Given the description of an element on the screen output the (x, y) to click on. 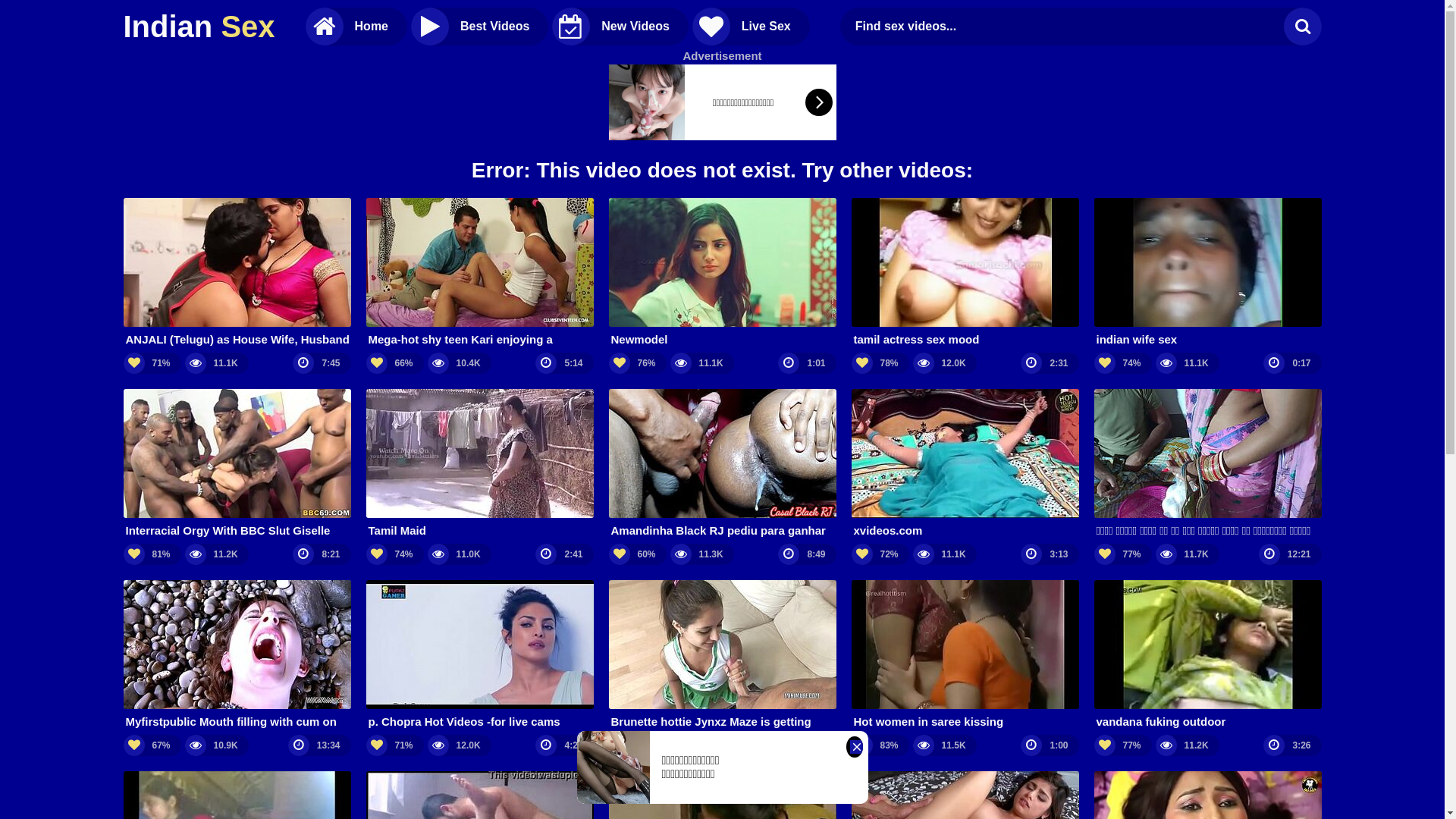
Myfirstpublic Mouth filling with cum on the beach Element type: text (236, 654)
Live Sex Element type: text (750, 26)
tamil actress sex mood Element type: text (964, 272)
vandana fuking outdoor Element type: text (1207, 654)
indian wife sex Element type: text (1207, 272)
Hot women in saree kissing Element type: text (964, 654)
Newmodel Element type: text (721, 272)
p. Chopra Hot Videos -for live cams http://zo.ee/4xrKY Element type: text (479, 654)
Indian Sex Element type: text (198, 26)
Tamil Maid Element type: text (479, 463)
xvideos.com ae3d96ab58bc771b11acdea2b29a89a0 Element type: text (964, 463)
Brunette hottie Jynxz Maze is getting fucked hard Element type: text (721, 654)
Interracial Orgy With BBC Slut Giselle Leon Element type: text (236, 463)
Home Element type: text (356, 26)
Mega-hot shy teen Kari enjoying a hardcore fuck Element type: text (479, 272)
Search Element type: hover (1302, 26)
New Videos Element type: text (620, 26)
Best Videos Element type: text (479, 26)
